Given the description of an element on the screen output the (x, y) to click on. 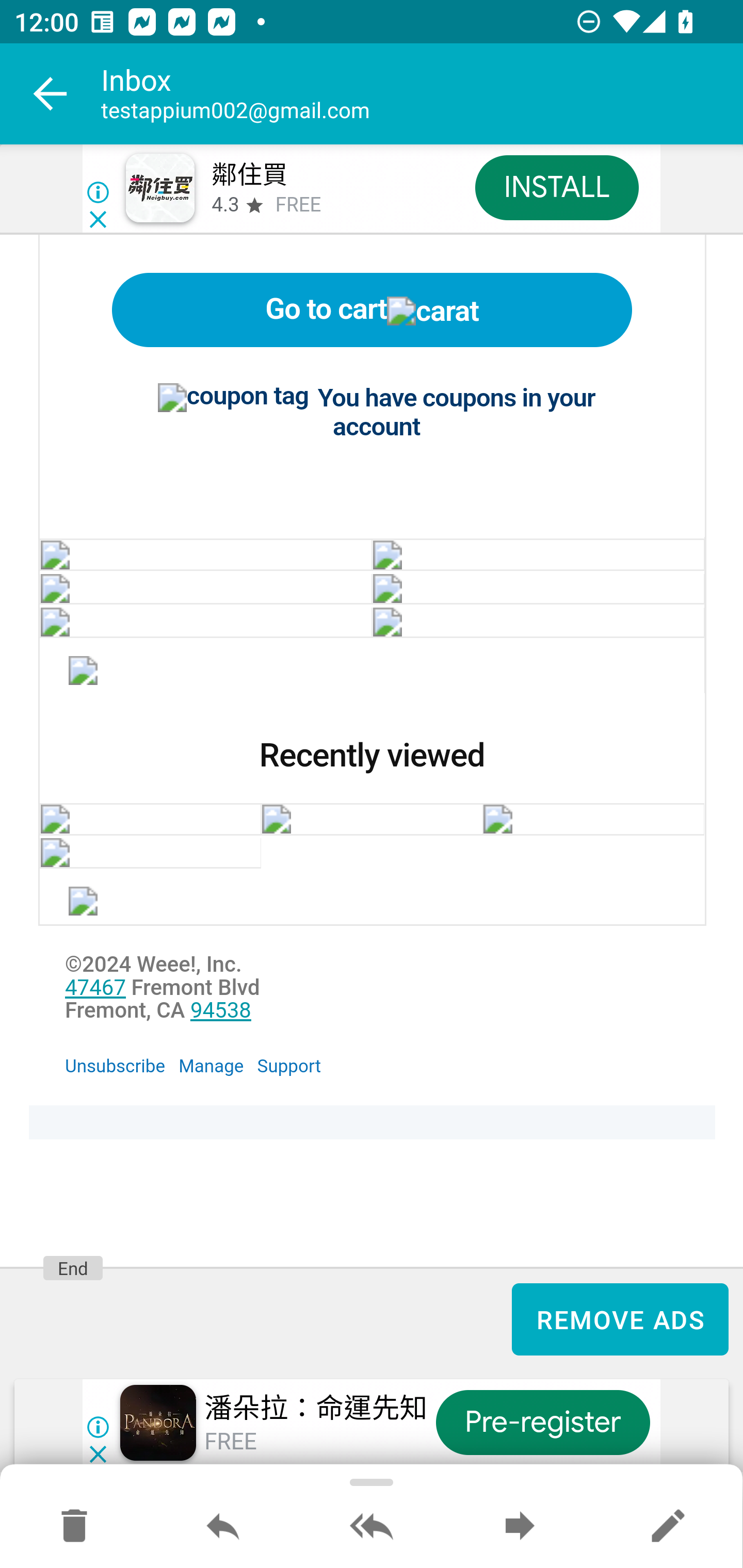
Navigate up (50, 93)
Inbox testappium002@gmail.com (422, 93)
INSTALL (556, 187)
鄰住買 (249, 175)
4.3 (224, 204)
FREE (298, 204)
data: (205, 554)
data: (538, 554)
data: (205, 589)
data: (538, 589)
data: (205, 621)
data: (538, 621)
data: (83, 674)
47467 (95, 988)
94538 (220, 1011)
Unsubscribe (115, 1065)
Manage (210, 1065)
Support (289, 1065)
REMOVE ADS (619, 1318)
潘朵拉：命運先知 (316, 1409)
Pre-register (542, 1422)
FREE (230, 1442)
Move to Deleted (74, 1527)
Reply (222, 1527)
Reply all (371, 1527)
Forward (519, 1527)
Reply as new (667, 1527)
